Given the description of an element on the screen output the (x, y) to click on. 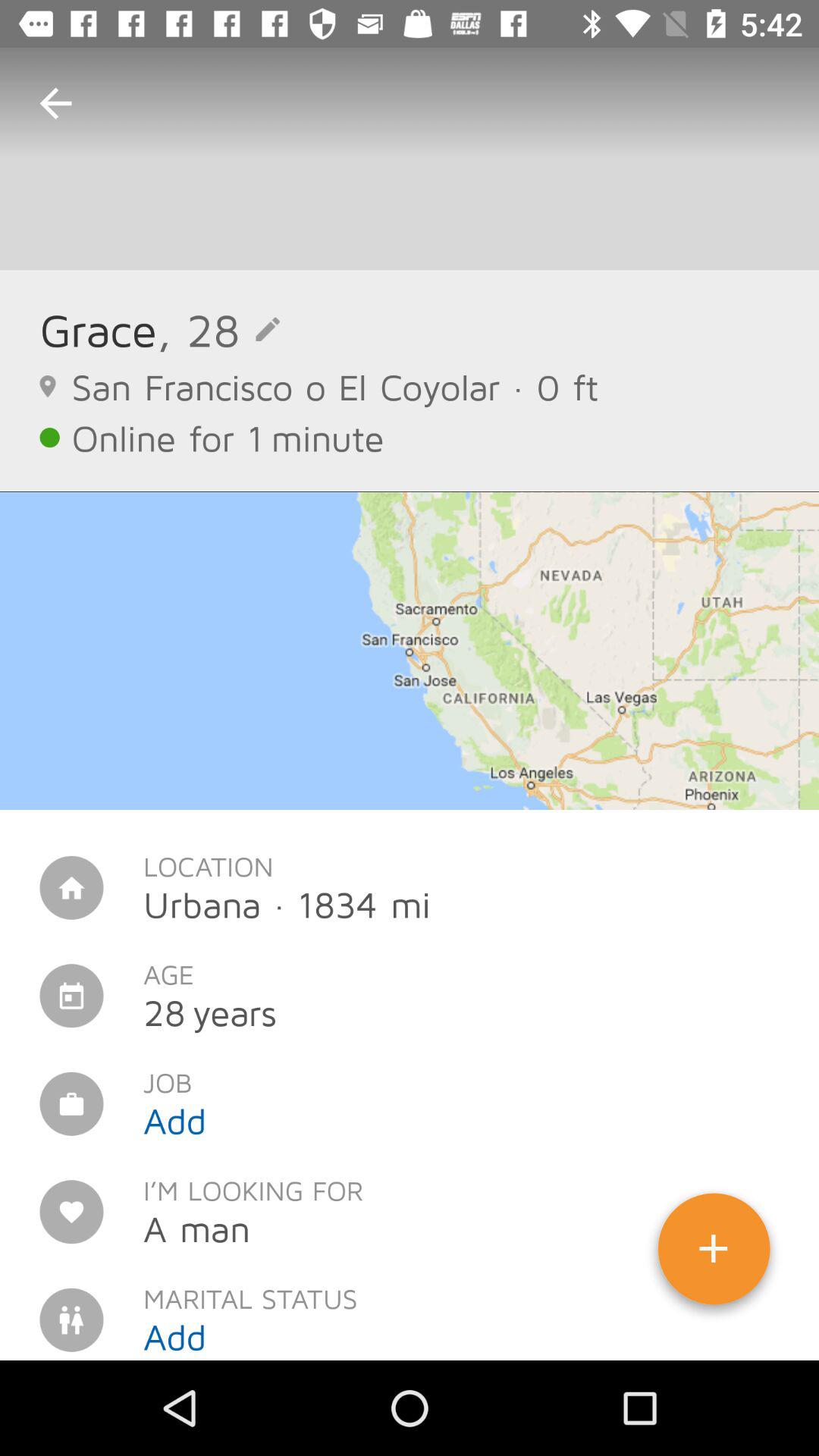
jump to the grace icon (97, 329)
